Given the description of an element on the screen output the (x, y) to click on. 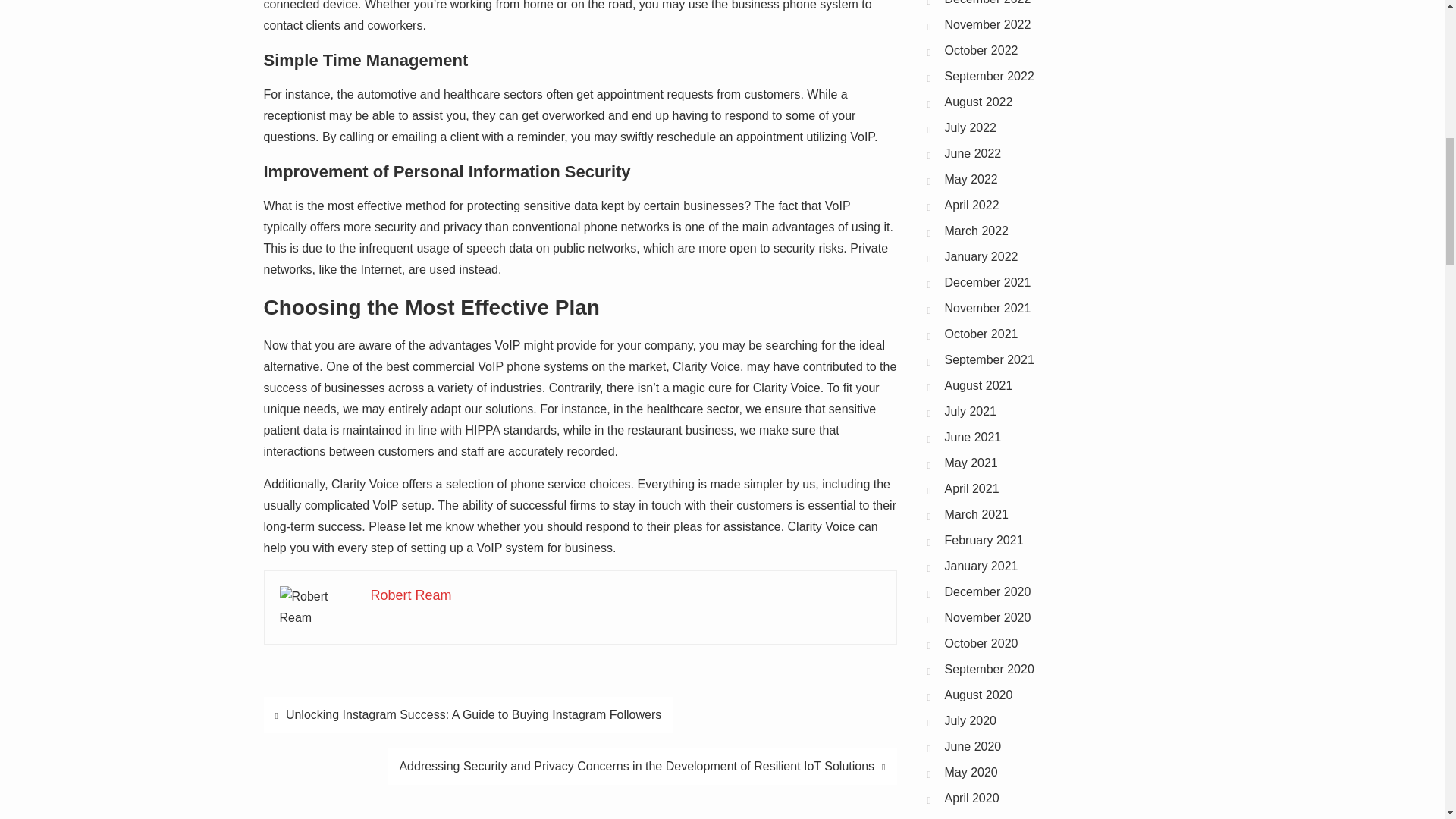
Robert Ream (410, 595)
